Given the description of an element on the screen output the (x, y) to click on. 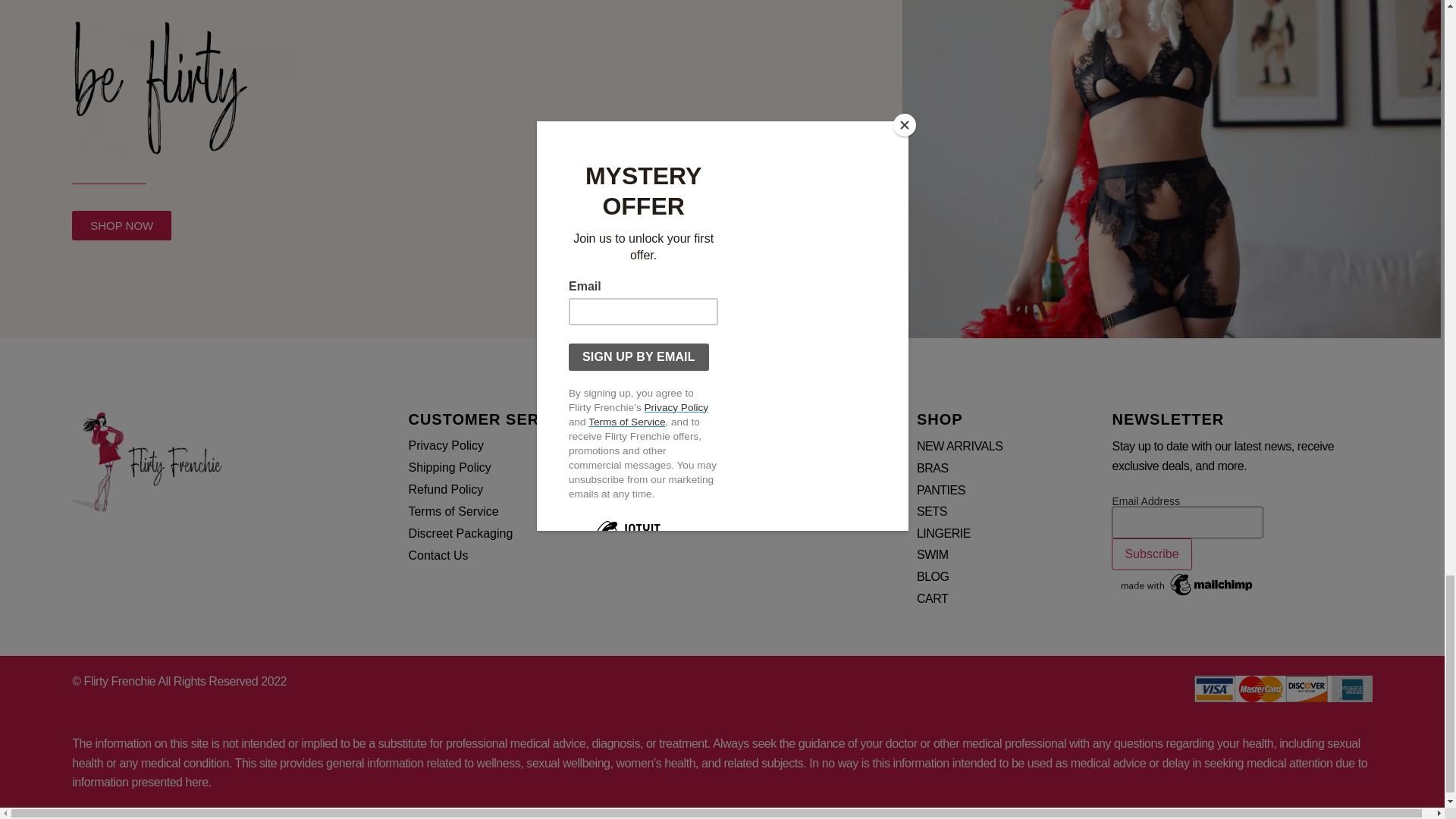
Credit Card Logos (1283, 688)
Subscribe (1151, 554)
Mailchimp - email marketing made easy and fun (1187, 594)
